Given the description of an element on the screen output the (x, y) to click on. 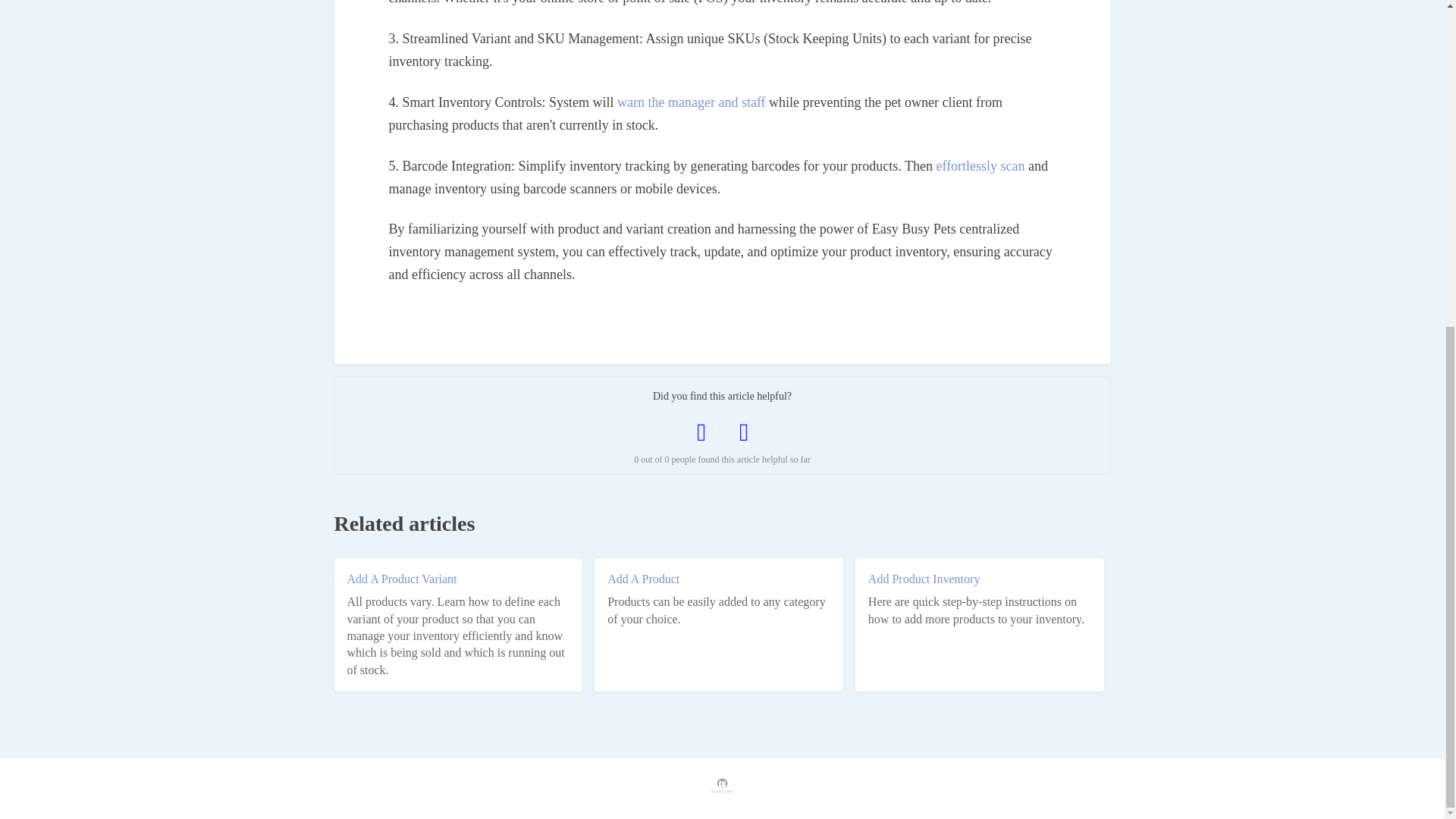
warn the manager and staff (691, 102)
effortlessly scan (980, 165)
